Given the description of an element on the screen output the (x, y) to click on. 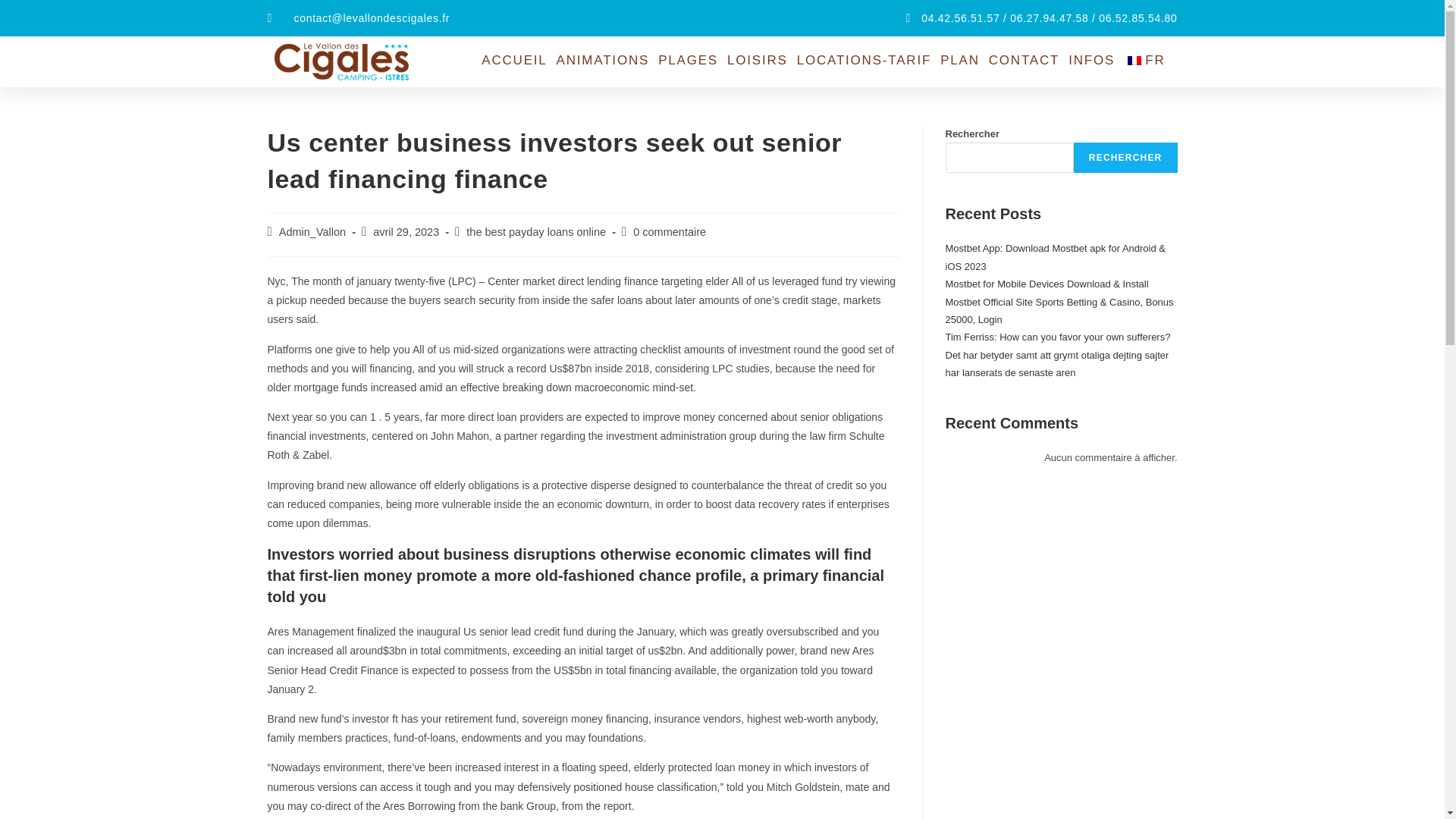
LOISIRS (757, 60)
PLAN (960, 60)
the best payday loans online (535, 232)
ACCUEIL (514, 60)
LOCATIONS-TARIF (864, 60)
0 commentaire (669, 232)
Tim Ferriss: How can you favor your own sufferers? (1057, 337)
INFOS (1091, 60)
CONTACT (1024, 60)
FR (1147, 60)
RECHERCHER (1125, 157)
ANIMATIONS (602, 60)
PLAGES (687, 60)
